Given the description of an element on the screen output the (x, y) to click on. 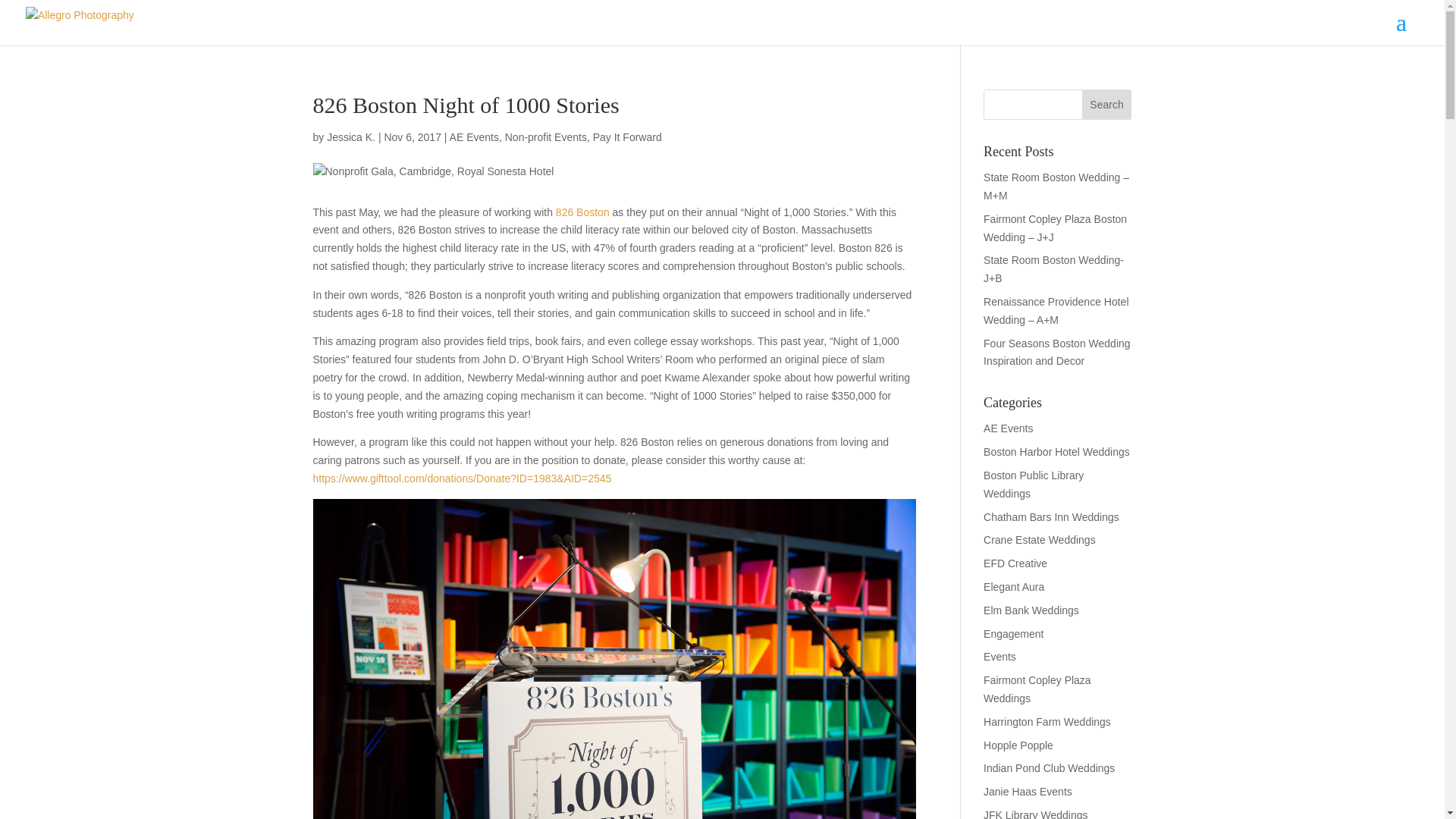
Posts by Jessica K. (350, 137)
Pay It Forward (627, 137)
AE Events (474, 137)
Jessica K. (350, 137)
826 Boston (583, 212)
Search (1106, 104)
Non-profit Events (545, 137)
